Given the description of an element on the screen output the (x, y) to click on. 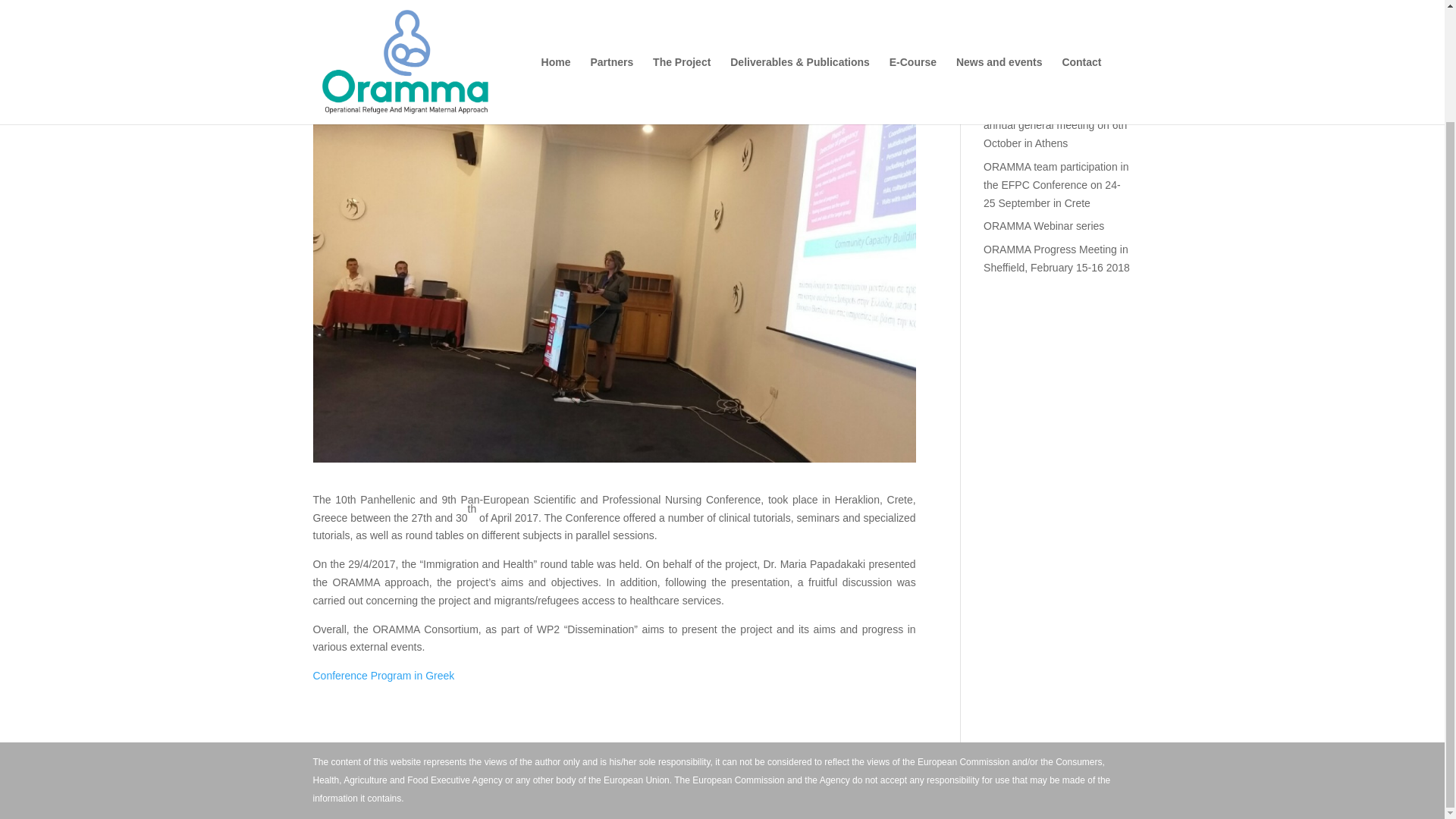
Posts by oramma (345, 97)
ORAMMA Final Event in Brussels (1040, 74)
ORAMMA Progress Meeting in Sheffield, February 15-16 2018 (1056, 258)
ORAMMA Webinar series (1043, 225)
oramma (345, 97)
Conference Program in Greek (383, 675)
News (454, 97)
0 comments (505, 97)
